Given the description of an element on the screen output the (x, y) to click on. 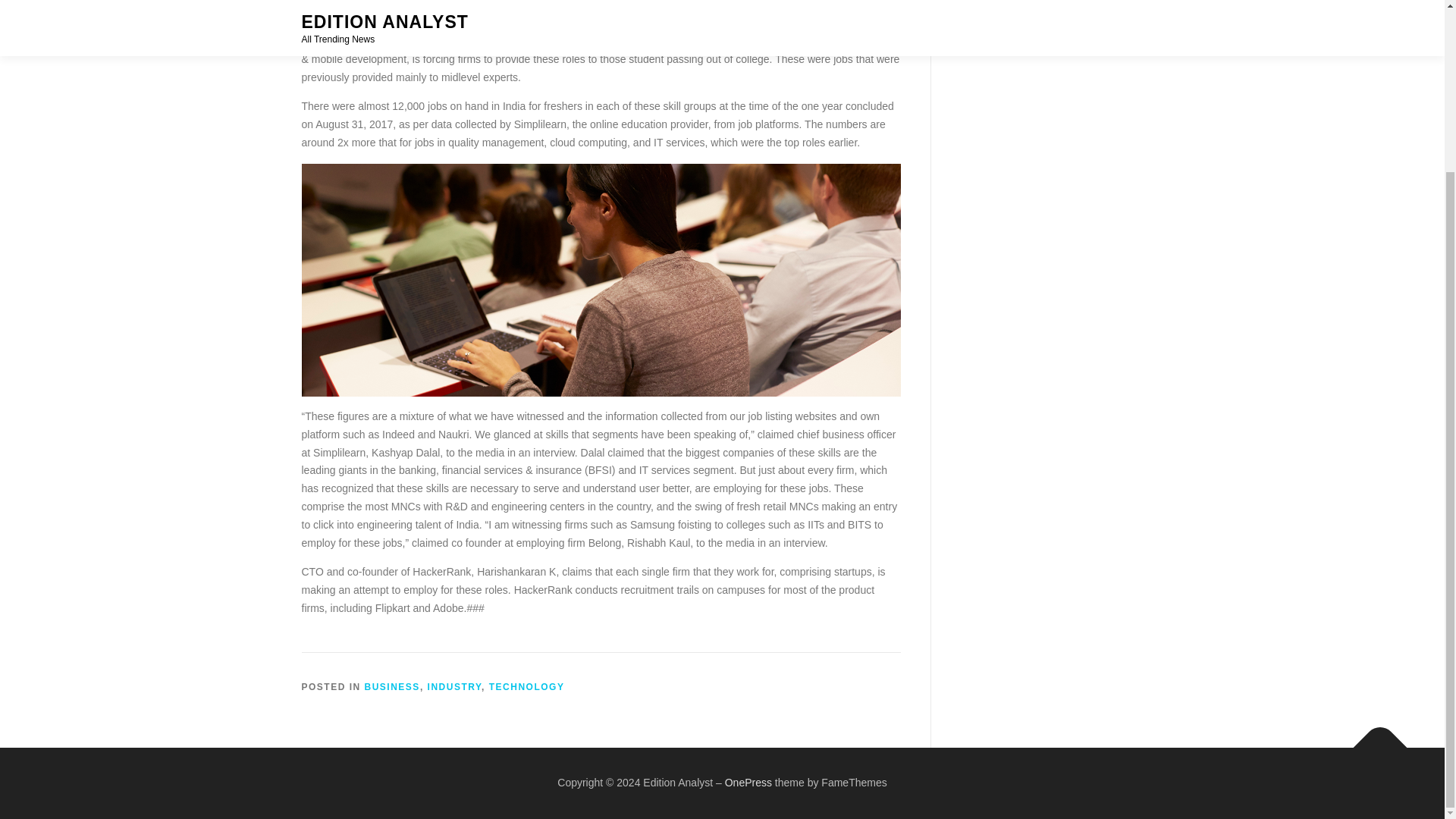
BUSINESS (392, 686)
Back To Top (1372, 740)
OnePress (748, 782)
TECHNOLOGY (526, 686)
INDUSTRY (454, 686)
